Given the description of an element on the screen output the (x, y) to click on. 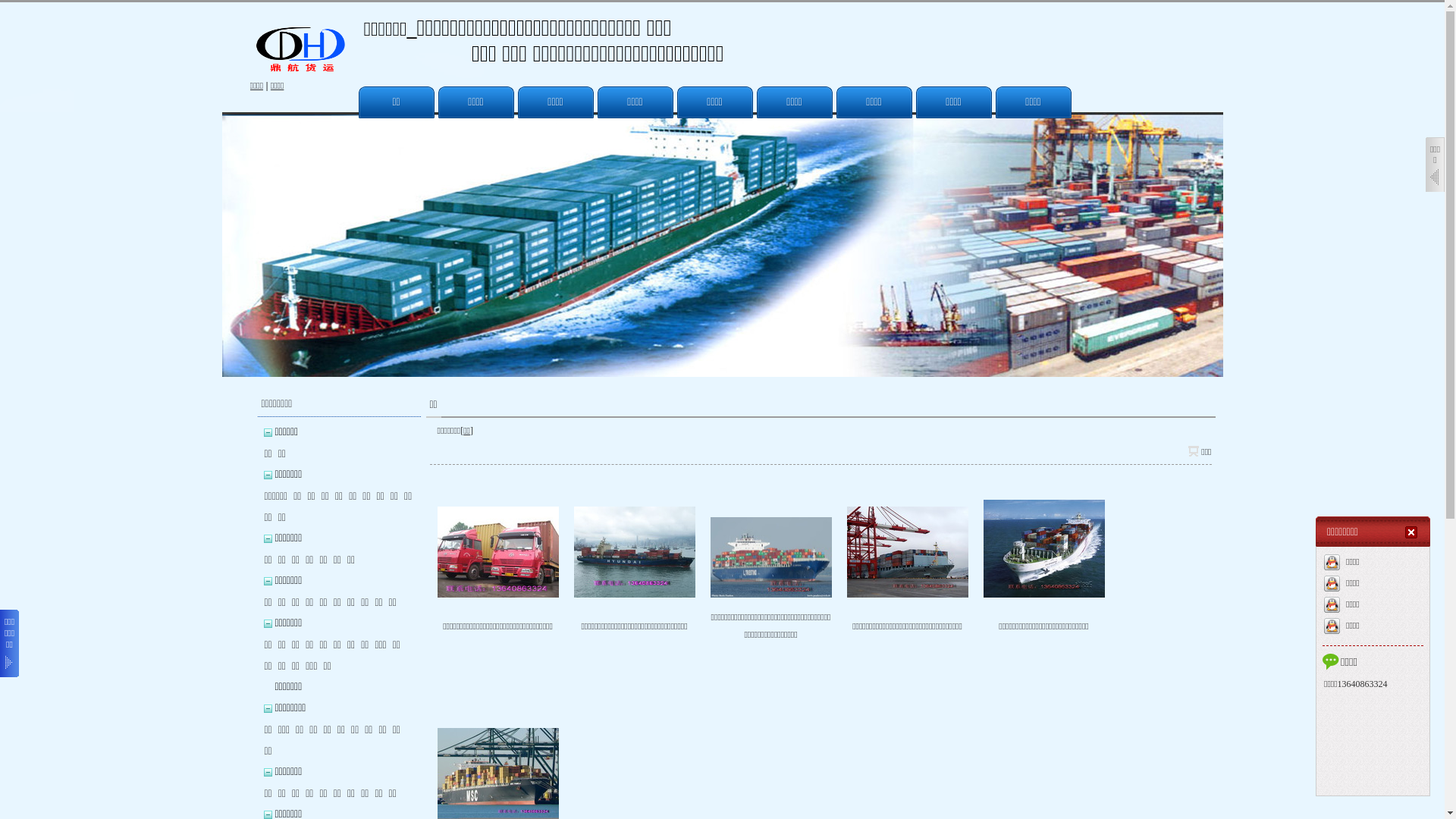
  Element type: text (1412, 531)
| Element type: text (266, 85)
